Given the description of an element on the screen output the (x, y) to click on. 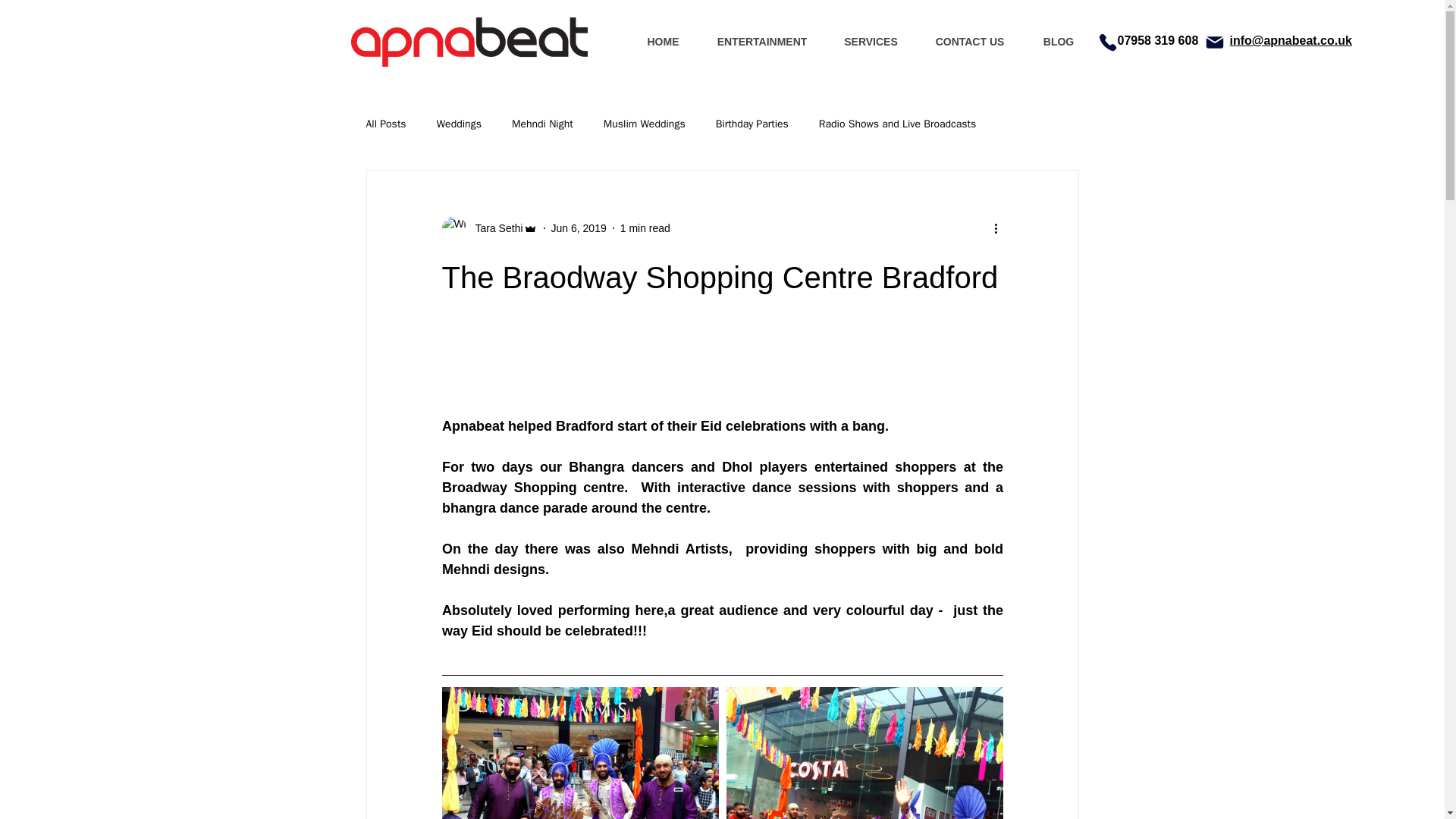
Birthday Parties (752, 124)
All Posts (385, 124)
Jun 6, 2019 (579, 227)
Tara Sethi (493, 228)
Mehndi Night (542, 124)
Weddings (458, 124)
CONTACT US (969, 41)
Muslim Weddings (644, 124)
BLOG (1058, 41)
Radio Shows and Live Broadcasts (896, 124)
